Given the description of an element on the screen output the (x, y) to click on. 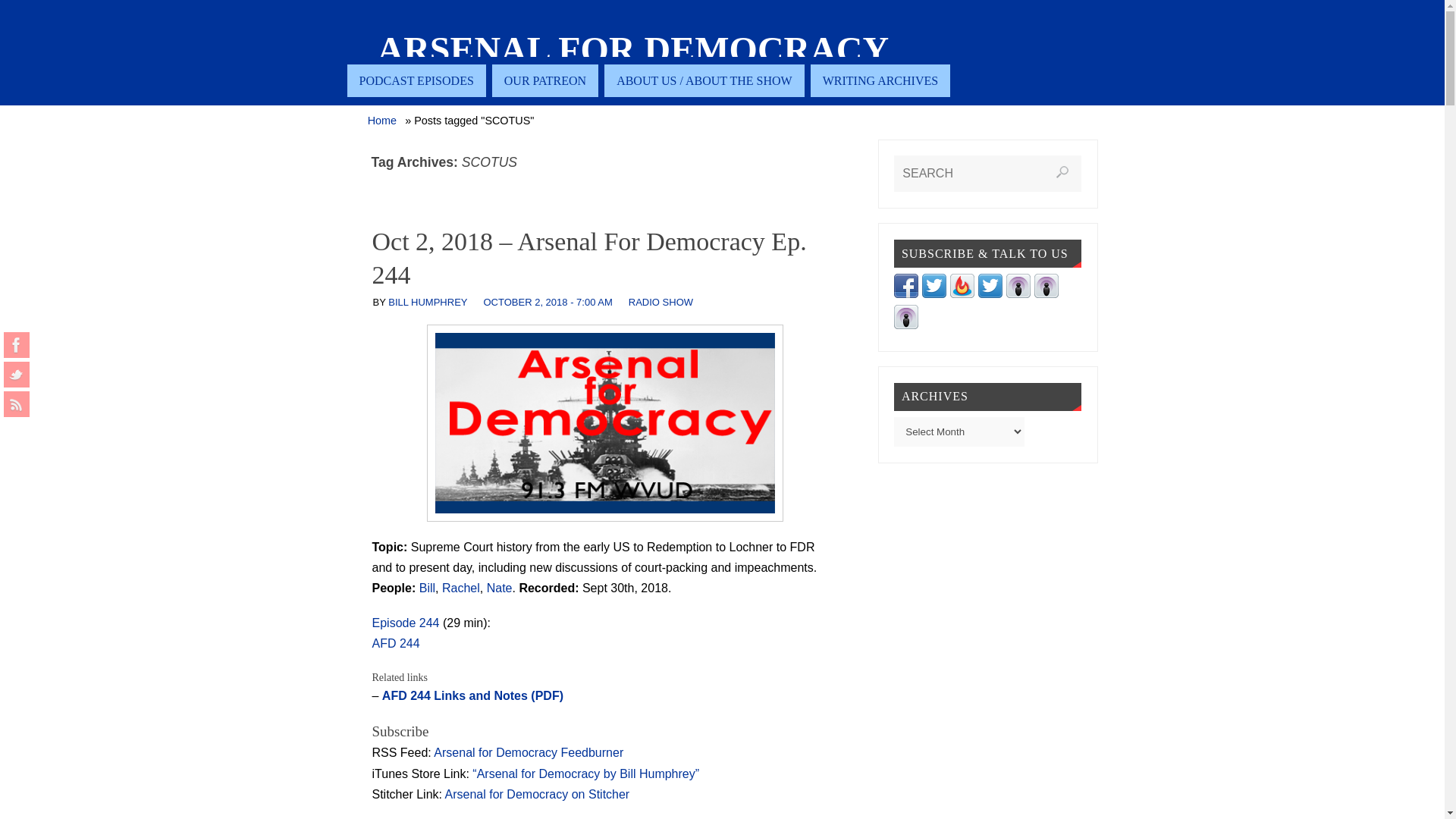
View all posts by Bill Humphrey (427, 301)
PODCAST EPISODES (416, 80)
OCTOBER 2, 2018 - 7:00 AM (547, 301)
Rachel (461, 587)
ARSENAL FOR DEMOCRACY (633, 49)
Bill (427, 587)
Arsenal For Democracy (633, 49)
OUR PATREON (545, 80)
BILL HUMPHREY (427, 301)
WRITING ARCHIVES (880, 80)
AFD RSS Feed (16, 403)
AFD 244 (395, 643)
RADIO SHOW (660, 301)
Home (382, 120)
Nate (499, 587)
